Given the description of an element on the screen output the (x, y) to click on. 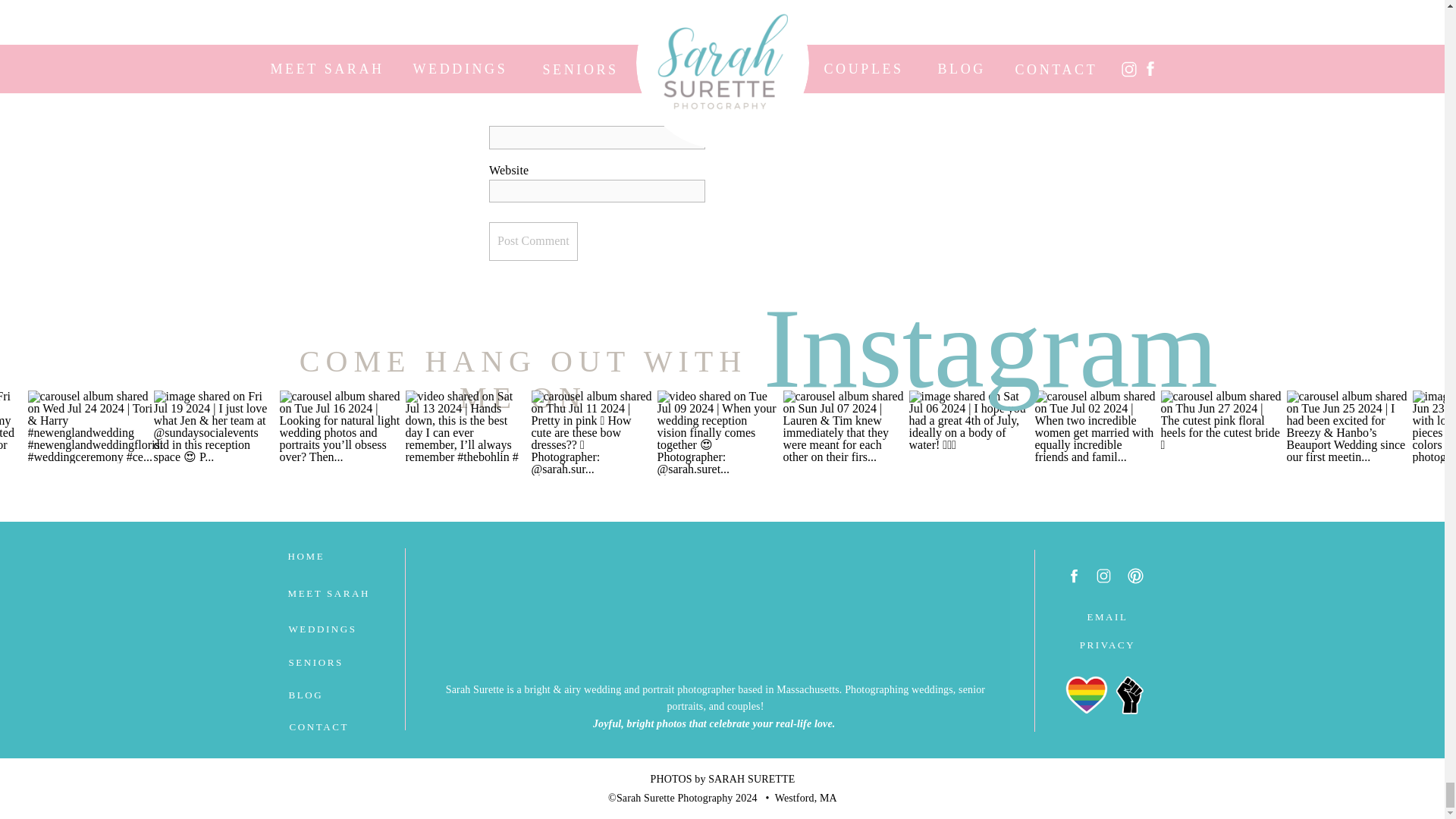
Post Comment (533, 241)
Post Comment (533, 241)
